Given the description of an element on the screen output the (x, y) to click on. 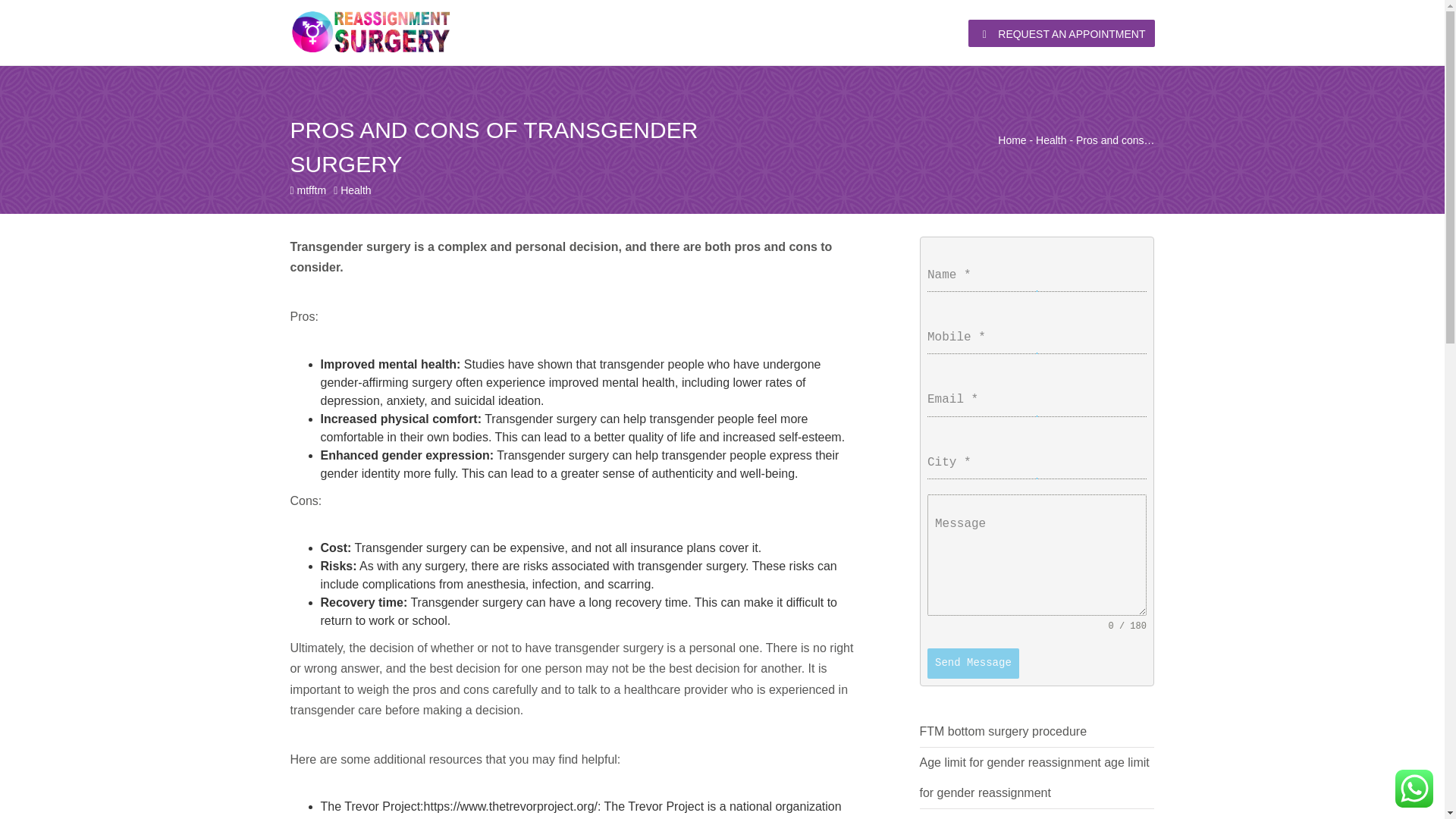
mtfftm (311, 190)
Submit (486, 523)
Home (1011, 140)
Health (355, 190)
FTM bottom surgery procedure (1002, 730)
Send Message (973, 663)
REQUEST AN APPOINTMENT (1061, 32)
